Given the description of an element on the screen output the (x, y) to click on. 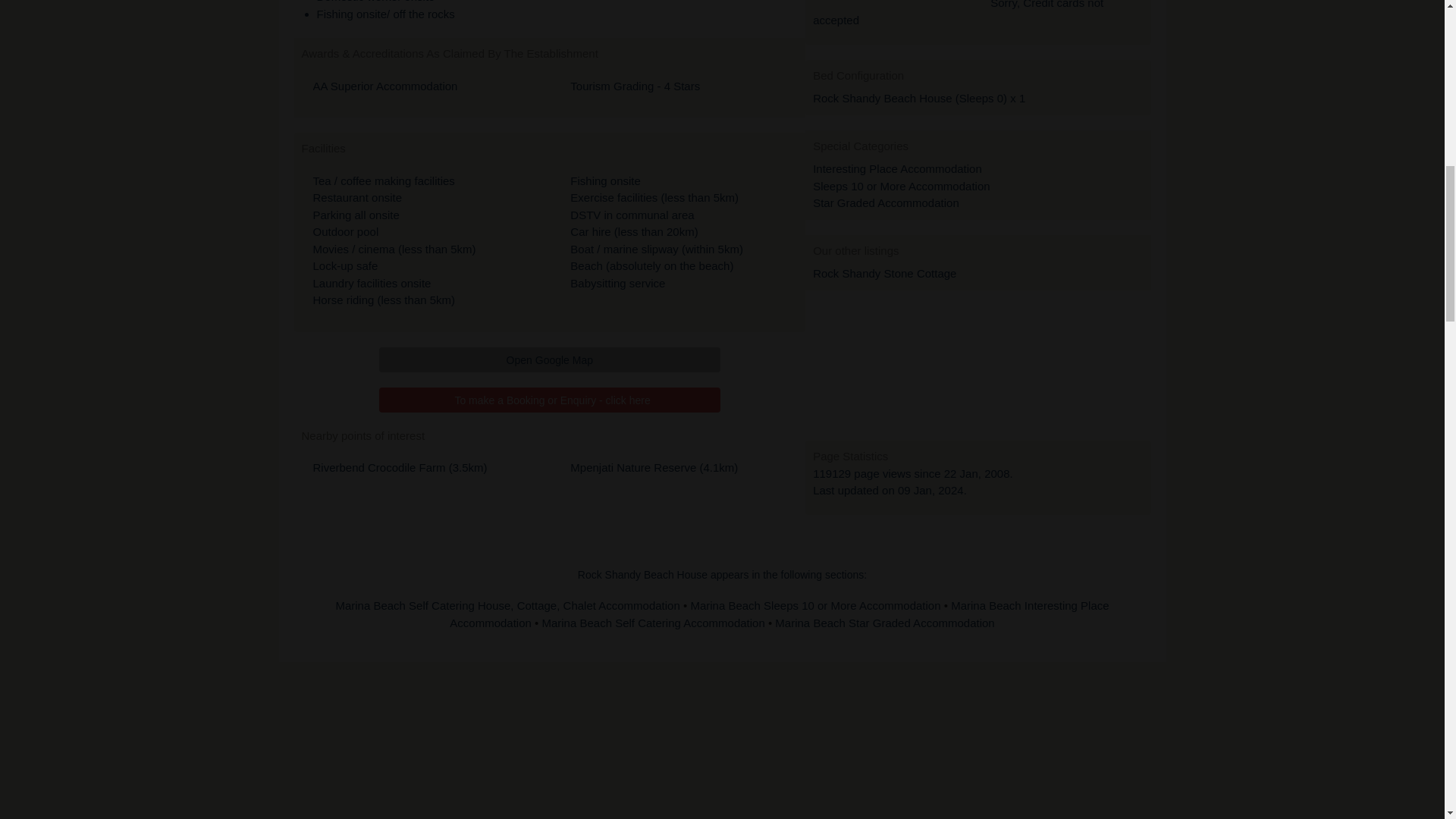
  To make a Booking or Enquiry - click here (549, 399)
Marina Beach Star Graded Accommodation (884, 622)
Marina Beach Self Catering Accommodation (654, 622)
Marina Beach Interesting Place Accommodation (778, 613)
Rock Shandy Stone Cottage (884, 273)
Marina Beach Sleeps 10 or More Accommodation (816, 604)
